Given the description of an element on the screen output the (x, y) to click on. 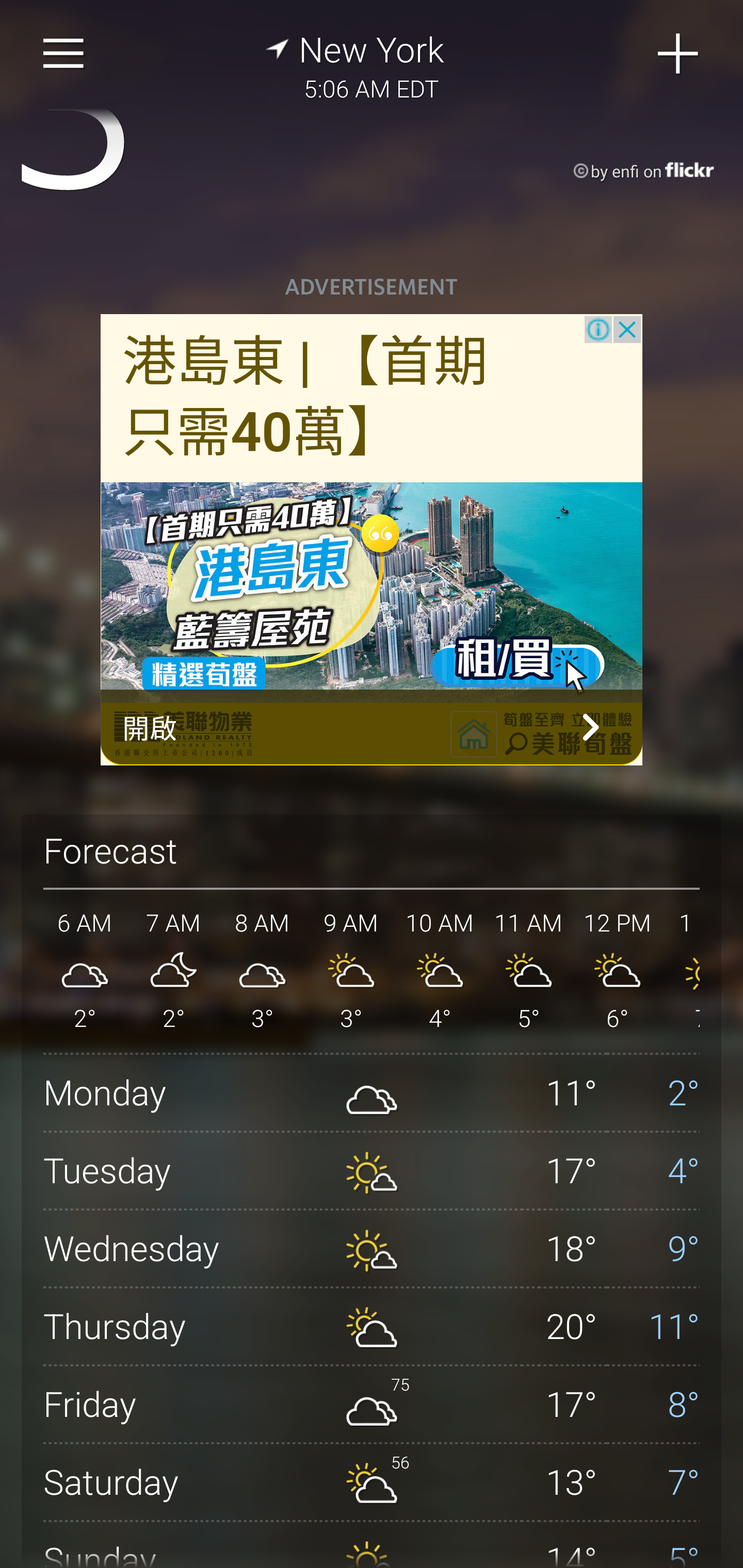
Sidebar (64, 54)
Add City (678, 53)
by enfi on Background photo by: enfi on Flickr (625, 170)
港島東 | 【首期 只需40萬】 港島東 | 【首期 
 只需40萬】 (305, 397)
開啟 (371, 727)
